Given the description of an element on the screen output the (x, y) to click on. 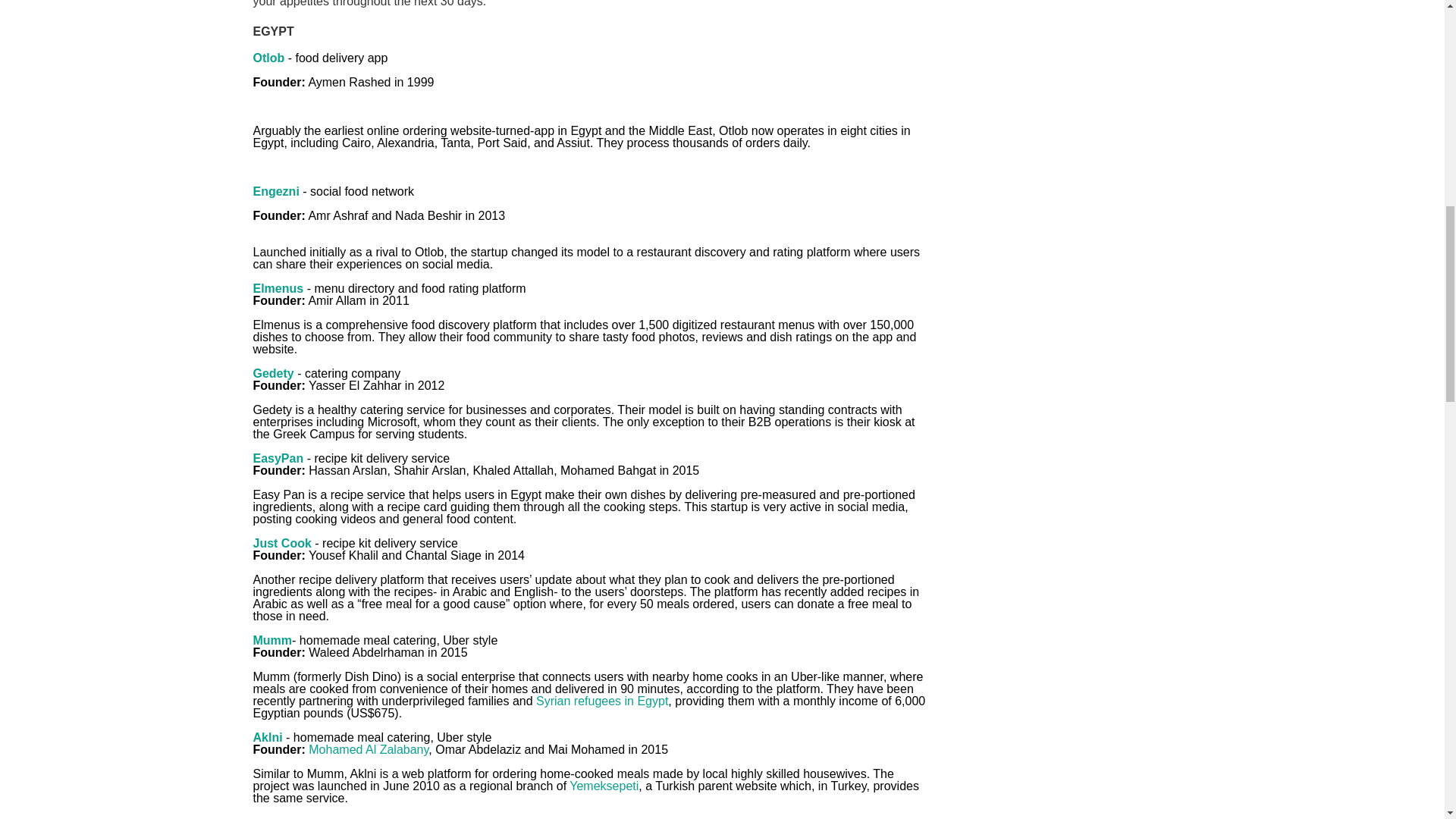
Gedety (273, 373)
EasyPan (278, 458)
Syrian refugees in Egypt (601, 700)
Otlob (269, 57)
Elmenus (278, 287)
Mumm (272, 640)
Aklni (267, 737)
Yemeksepeti (604, 785)
Just Cook (282, 543)
Engezni (276, 191)
